Given the description of an element on the screen output the (x, y) to click on. 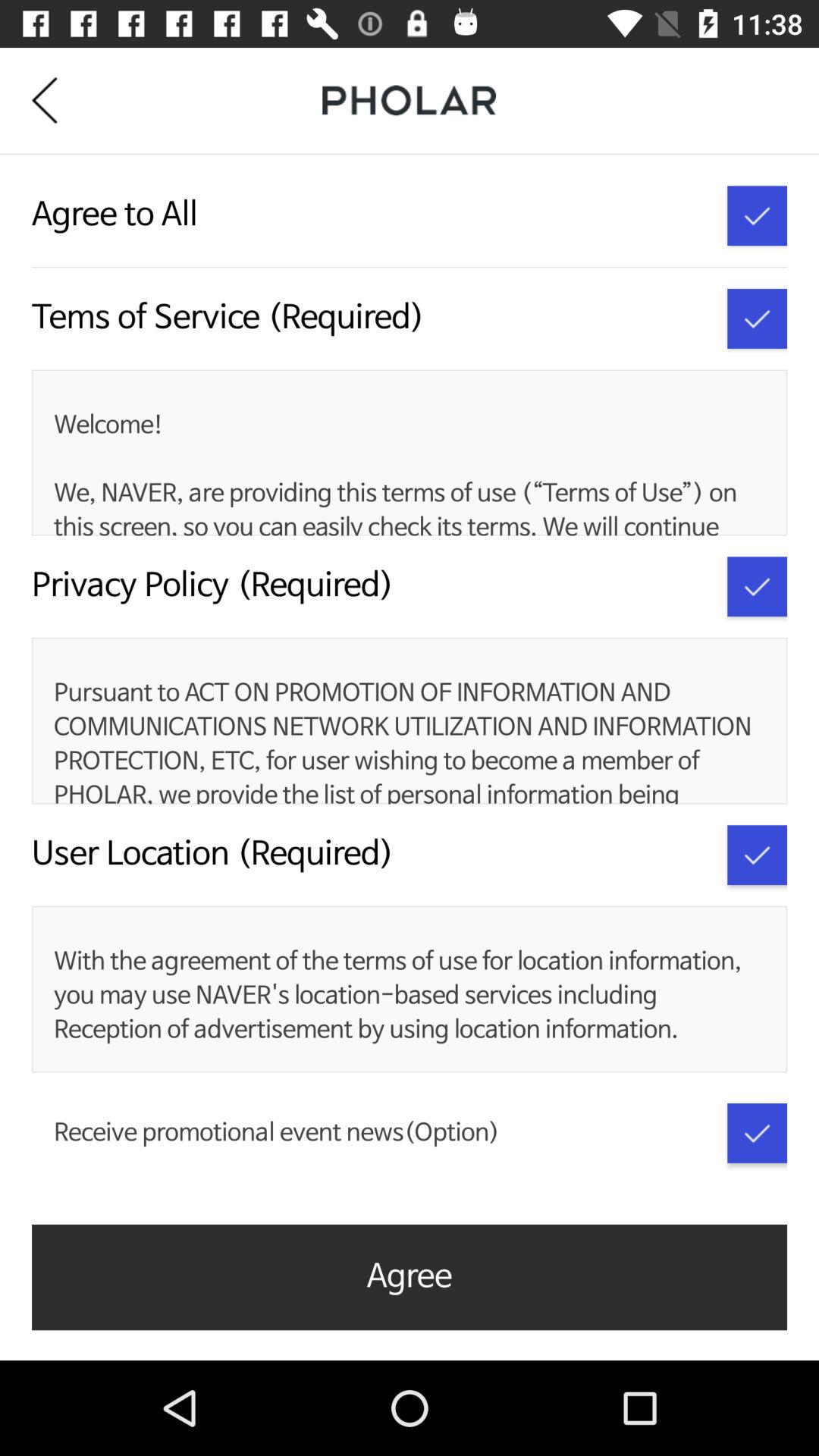
toggle policy option (757, 586)
